Given the description of an element on the screen output the (x, y) to click on. 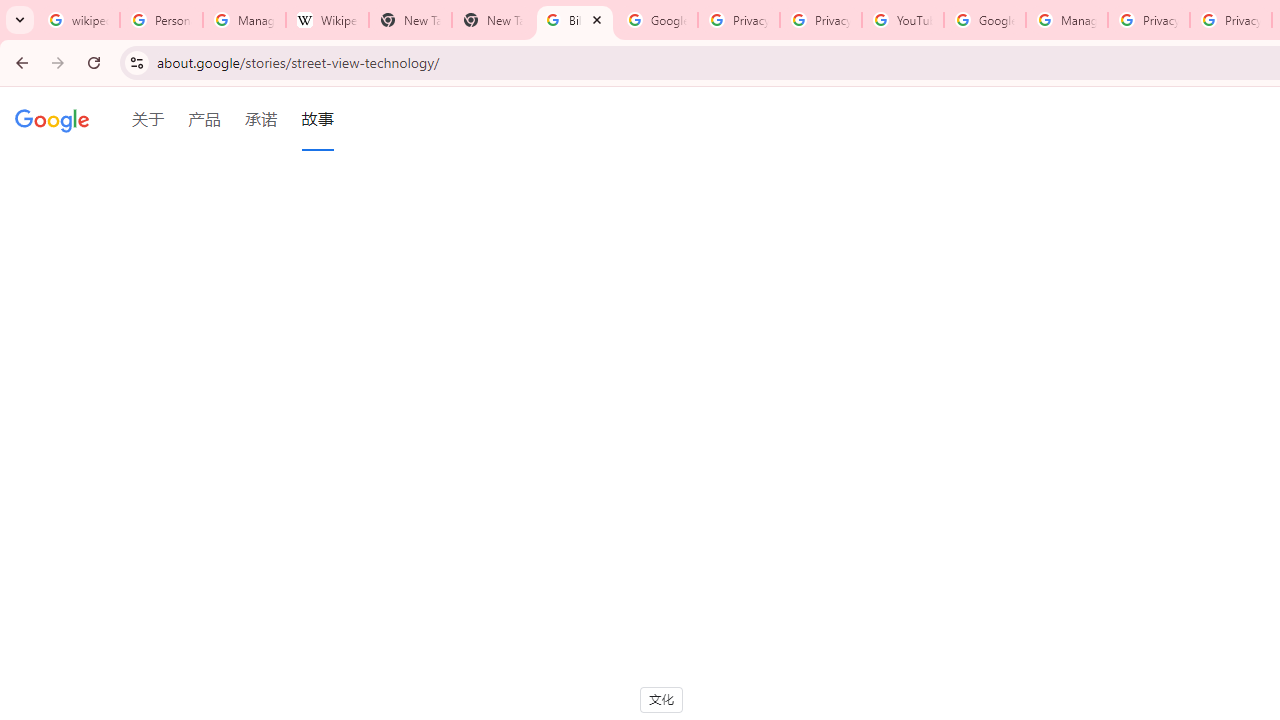
Manage your Location History - Google Search Help (244, 20)
Google Account Help (984, 20)
YouTube (902, 20)
Google Drive: Sign-in (656, 20)
Wikipedia:Edit requests - Wikipedia (326, 20)
